Given the description of an element on the screen output the (x, y) to click on. 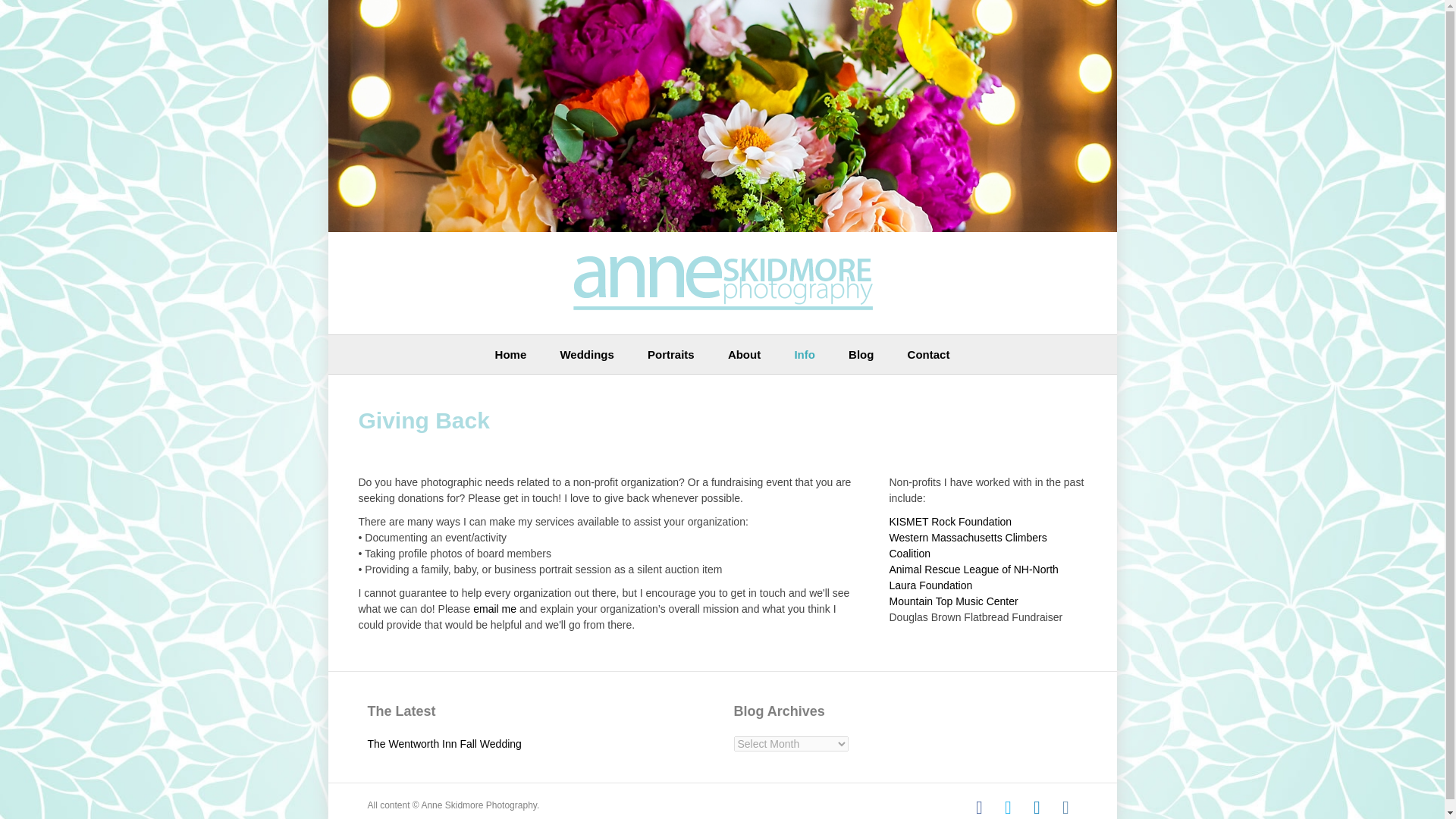
About (744, 353)
Home (510, 353)
Portraits (670, 353)
Weddings (586, 353)
